Given the description of an element on the screen output the (x, y) to click on. 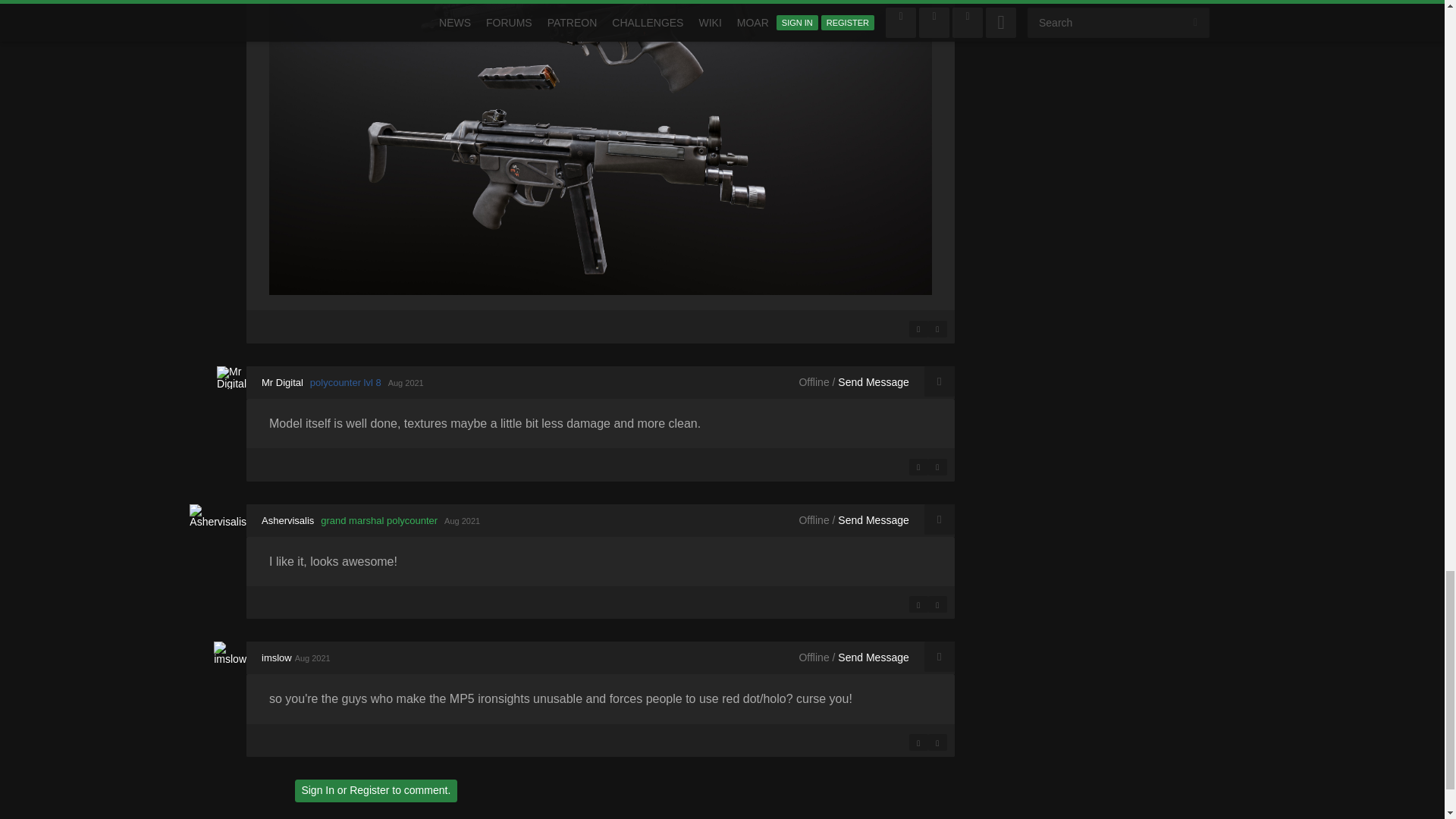
SHARE ON FACEBOOK (918, 329)
